Given the description of an element on the screen output the (x, y) to click on. 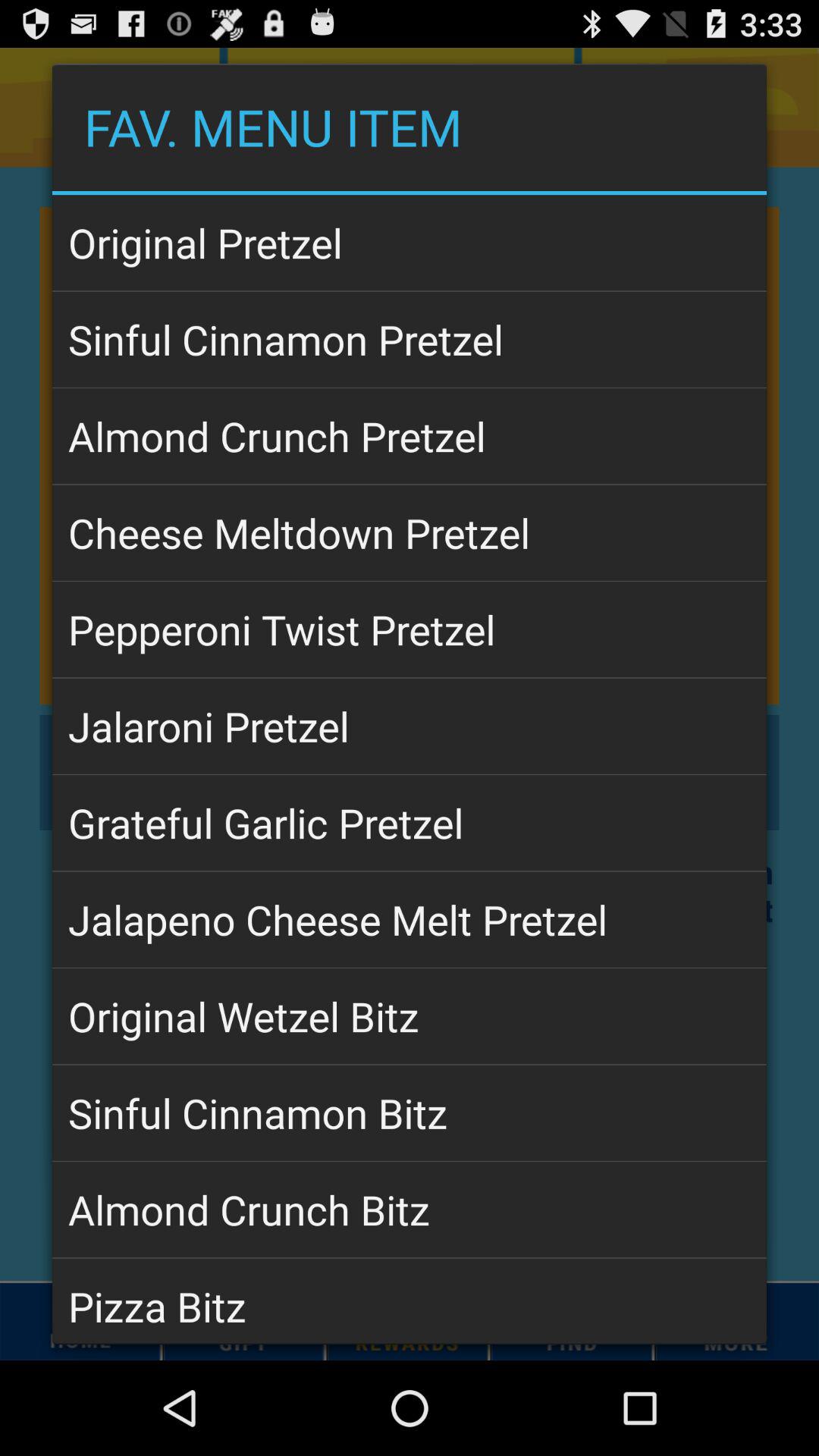
turn on the jalaroni pretzel app (409, 726)
